Given the description of an element on the screen output the (x, y) to click on. 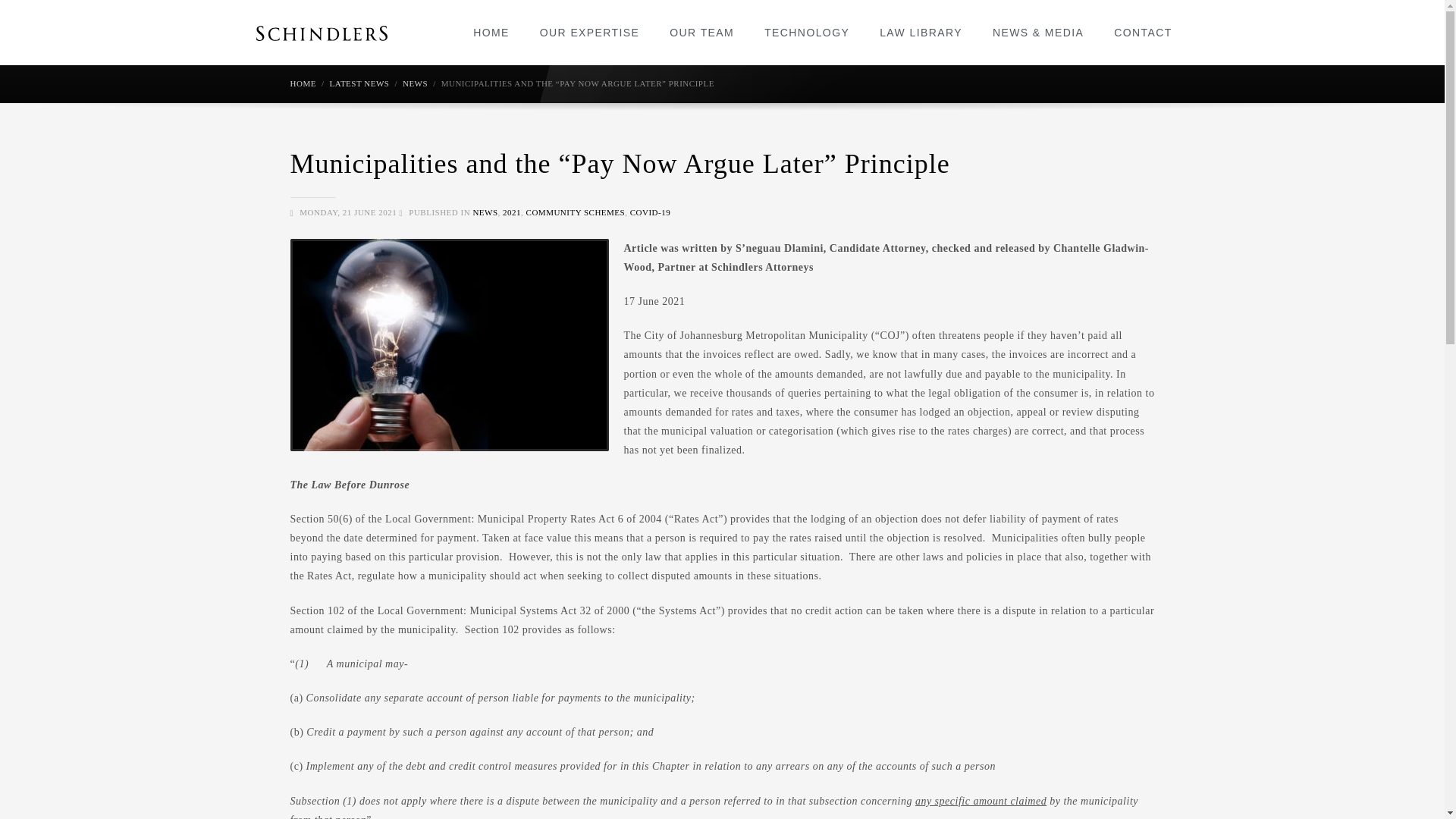
OUR EXPERTISE (589, 32)
LAW LIBRARY (920, 32)
Latest News (358, 82)
HOME (491, 32)
OUR TEAM (701, 32)
CONTACT (1142, 32)
TECHNOLOGY (806, 32)
